Given the description of an element on the screen output the (x, y) to click on. 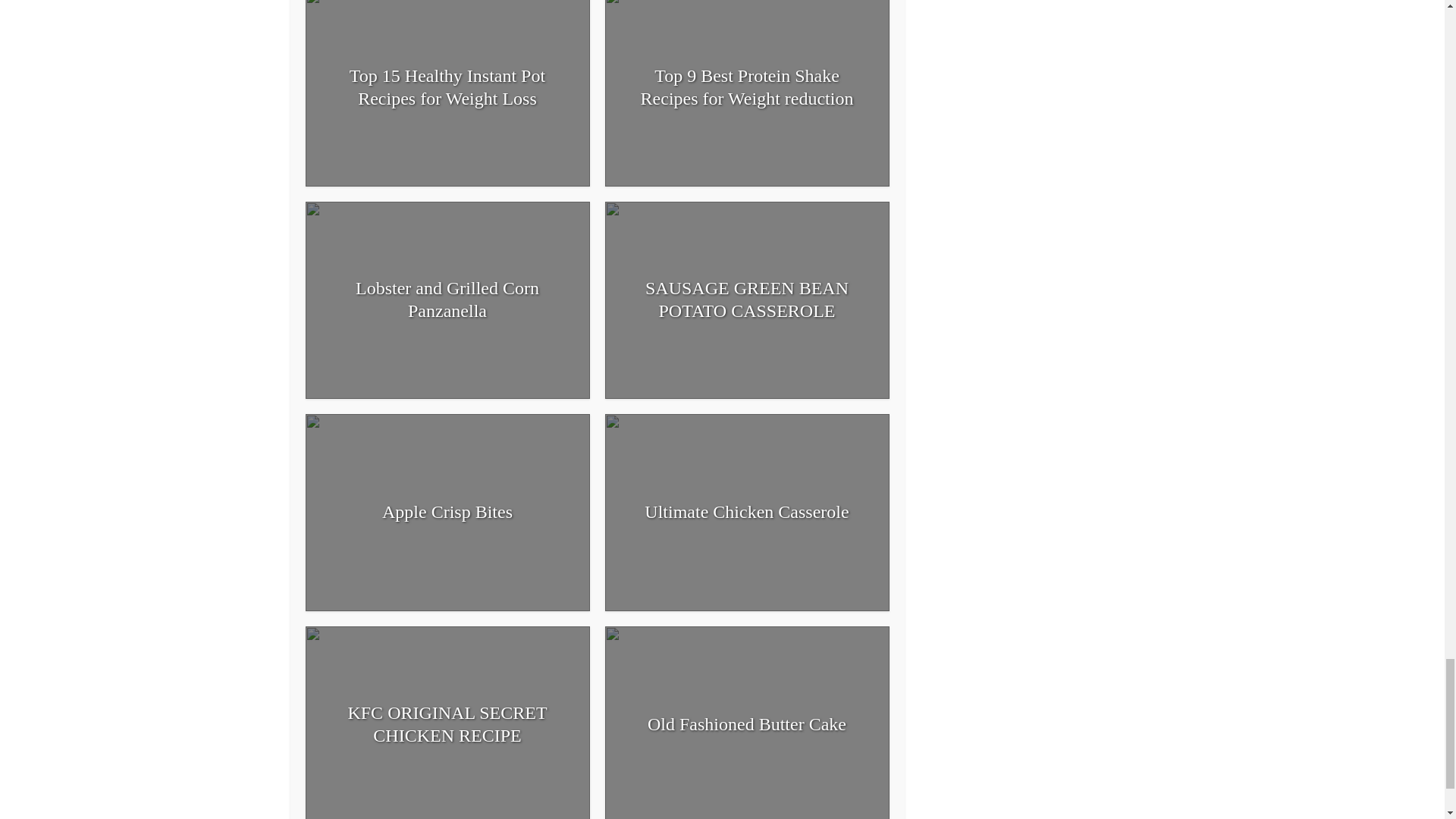
KFC ORIGINAL SECRET CHICKEN RECIPE (446, 723)
Old Fashioned Butter Cake (746, 723)
Top 15 Healthy Instant Pot Recipes for Weight Loss (446, 86)
Top 9 Best Protein Shake Recipes for Weight reduction (747, 86)
Lobster and Grilled Corn Panzanella (446, 299)
SAUSAGE GREEN BEAN POTATO CASSEROLE (747, 299)
SAUSAGE GREEN BEAN POTATO CASSEROLE (747, 299)
Apple Crisp Bites (447, 511)
Ultimate Chicken Casserole (746, 511)
Top 15 Healthy Instant Pot Recipes for Weight Loss (446, 86)
Lobster and Grilled Corn Panzanella (446, 299)
Top 9 Best Protein Shake Recipes for Weight reduction (747, 86)
